Given the description of an element on the screen output the (x, y) to click on. 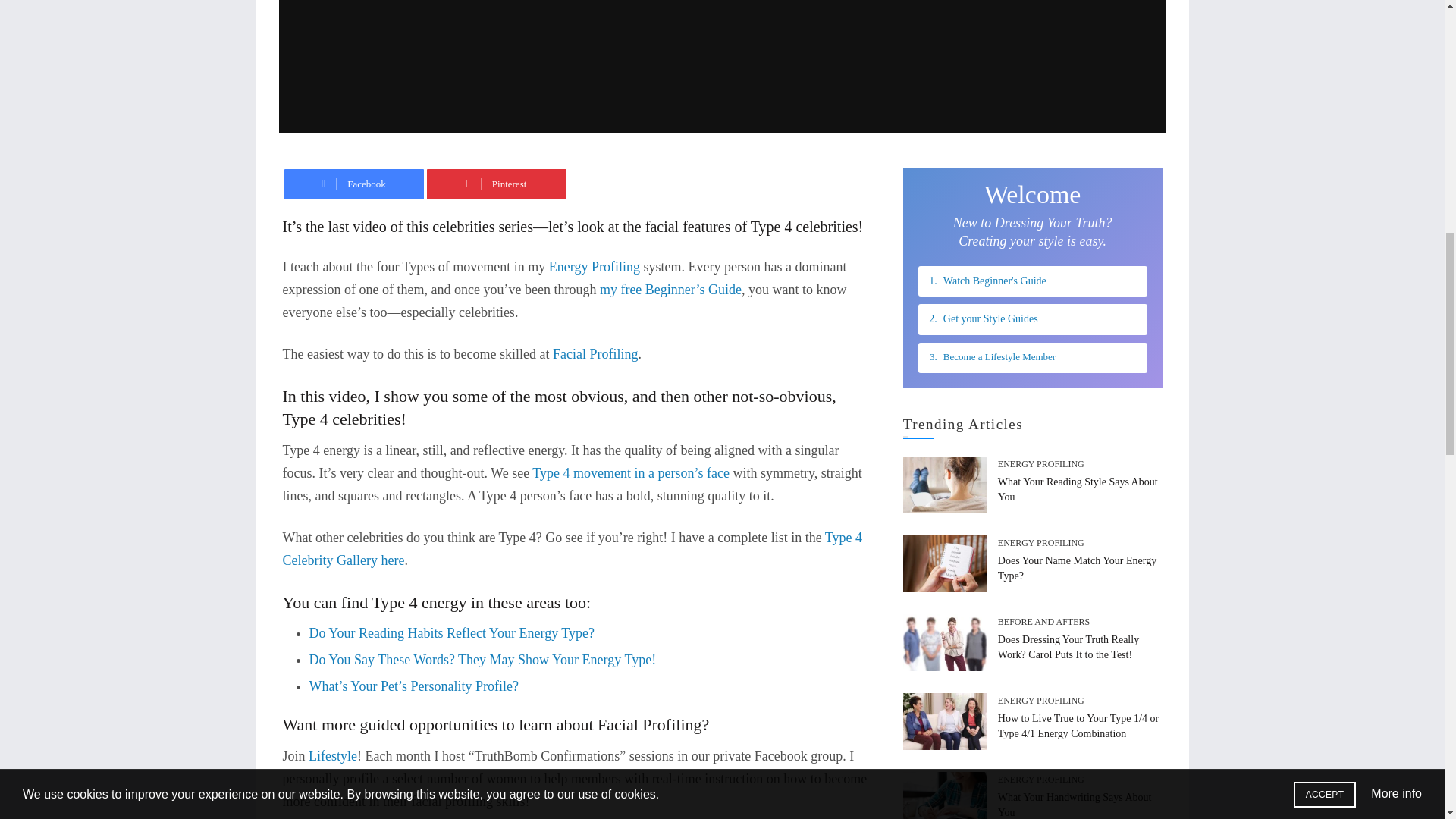
Does Your Name Match Your Energy Type? (944, 563)
What Your Reading Style Says About You (944, 484)
Does Your Name Match Your Energy Type? (1076, 568)
What Your Reading Style Says About You (1077, 488)
